Given the description of an element on the screen output the (x, y) to click on. 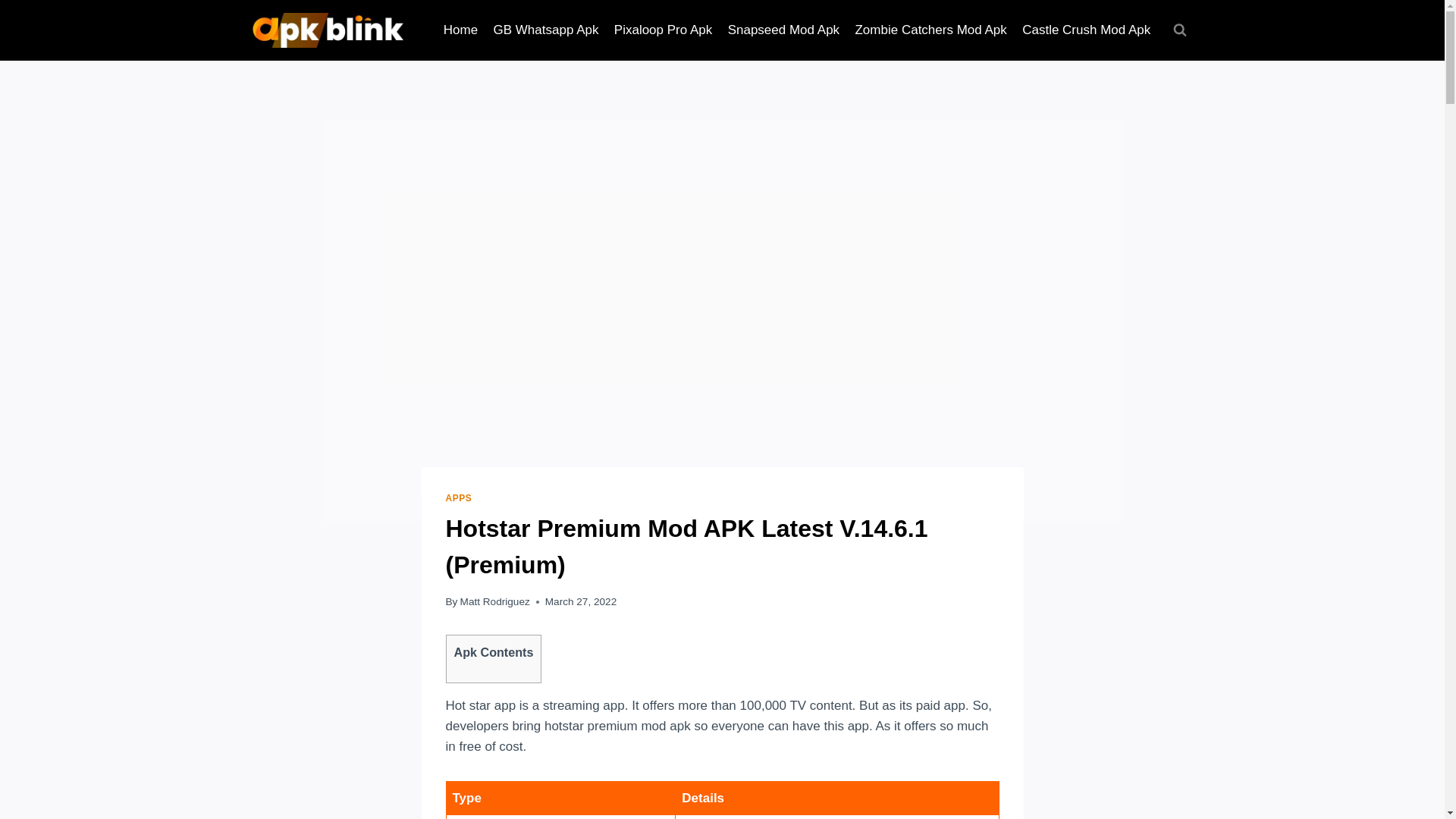
Zombie Catchers Mod Apk (930, 30)
Castle Crush Mod Apk (1086, 30)
APPS (458, 498)
Snapseed Mod Apk (783, 30)
Matt Rodriguez (494, 601)
Home (460, 30)
Pixaloop Pro Apk (663, 30)
GB Whatsapp Apk (544, 30)
